Given the description of an element on the screen output the (x, y) to click on. 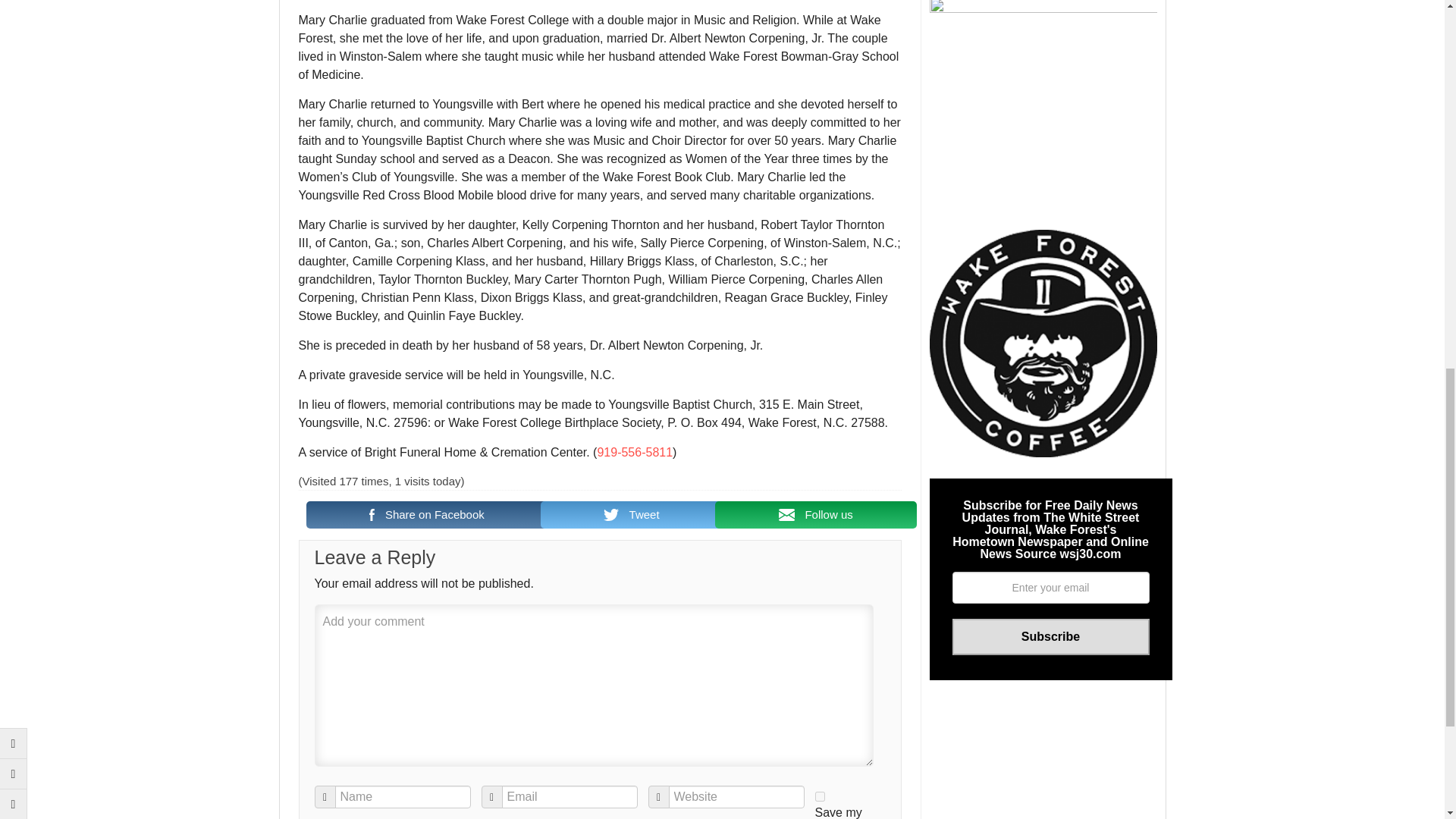
yes (818, 796)
Subscribe (1051, 637)
